Given the description of an element on the screen output the (x, y) to click on. 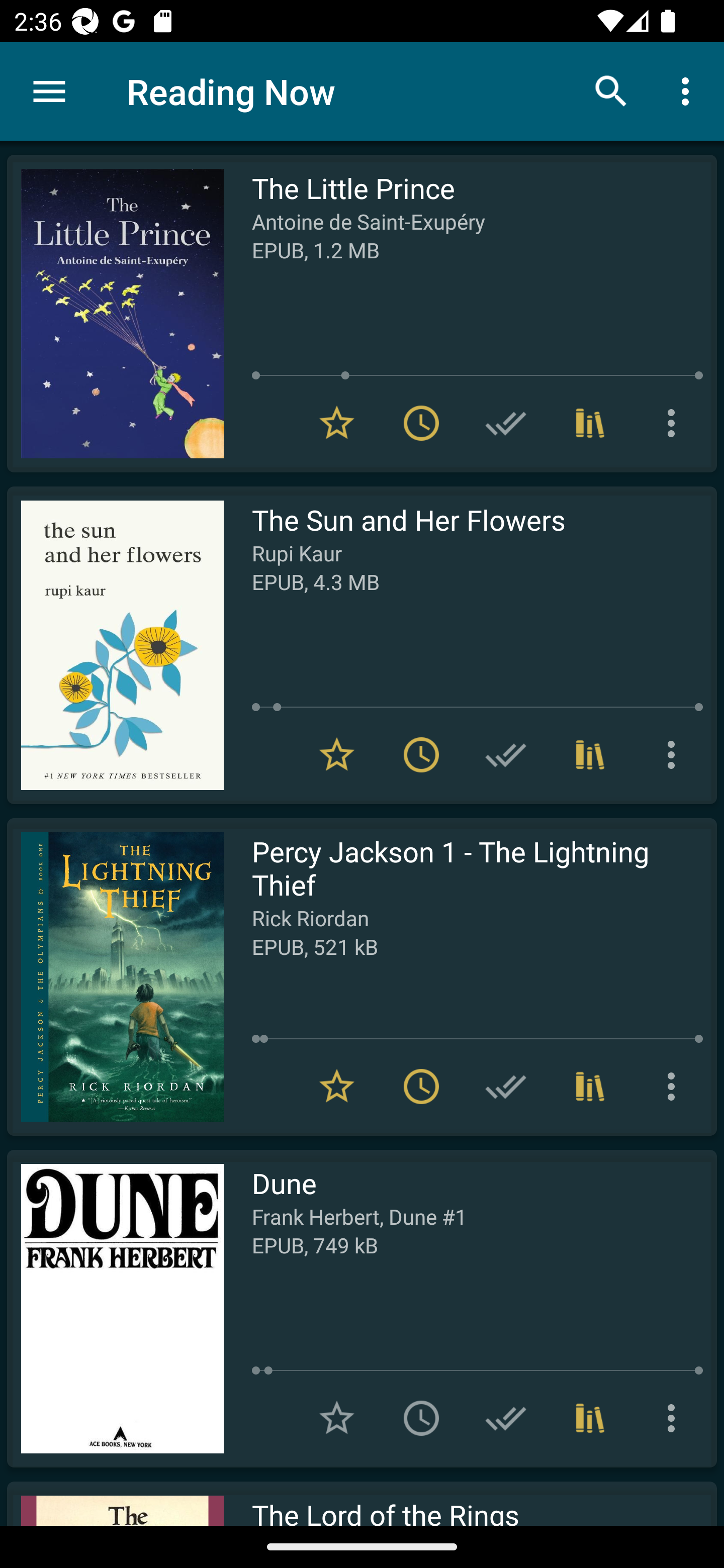
Menu (49, 91)
Search books & documents (611, 90)
More options (688, 90)
Read The Little Prince (115, 313)
Remove from Favorites (336, 423)
Remove from To read (421, 423)
Add to Have read (505, 423)
Collections (1) (590, 423)
More options (674, 423)
Read The Sun and Her Flowers (115, 645)
Remove from Favorites (336, 753)
Remove from To read (421, 753)
Add to Have read (505, 753)
Collections (1) (590, 753)
More options (674, 753)
Read Percy Jackson 1 - The Lightning Thief (115, 976)
Remove from Favorites (336, 1086)
Remove from To read (421, 1086)
Add to Have read (505, 1086)
Collections (1) (590, 1086)
More options (674, 1086)
Read Dune (115, 1308)
Add to Favorites (336, 1417)
Add to To read (421, 1417)
Add to Have read (505, 1417)
Collections (1) (590, 1417)
More options (674, 1417)
